Given the description of an element on the screen output the (x, y) to click on. 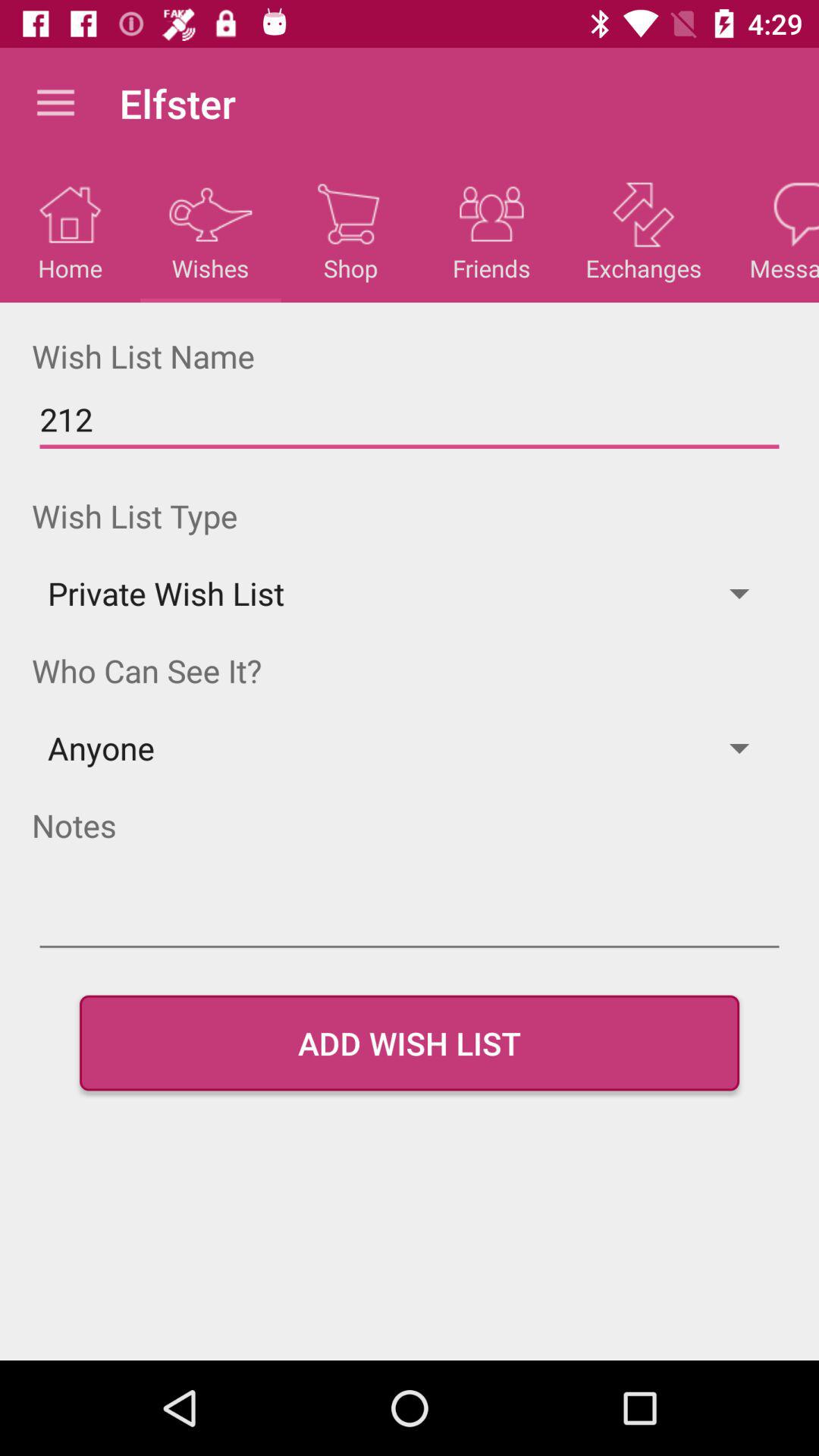
launch the icon above the wish list type item (409, 419)
